Given the description of an element on the screen output the (x, y) to click on. 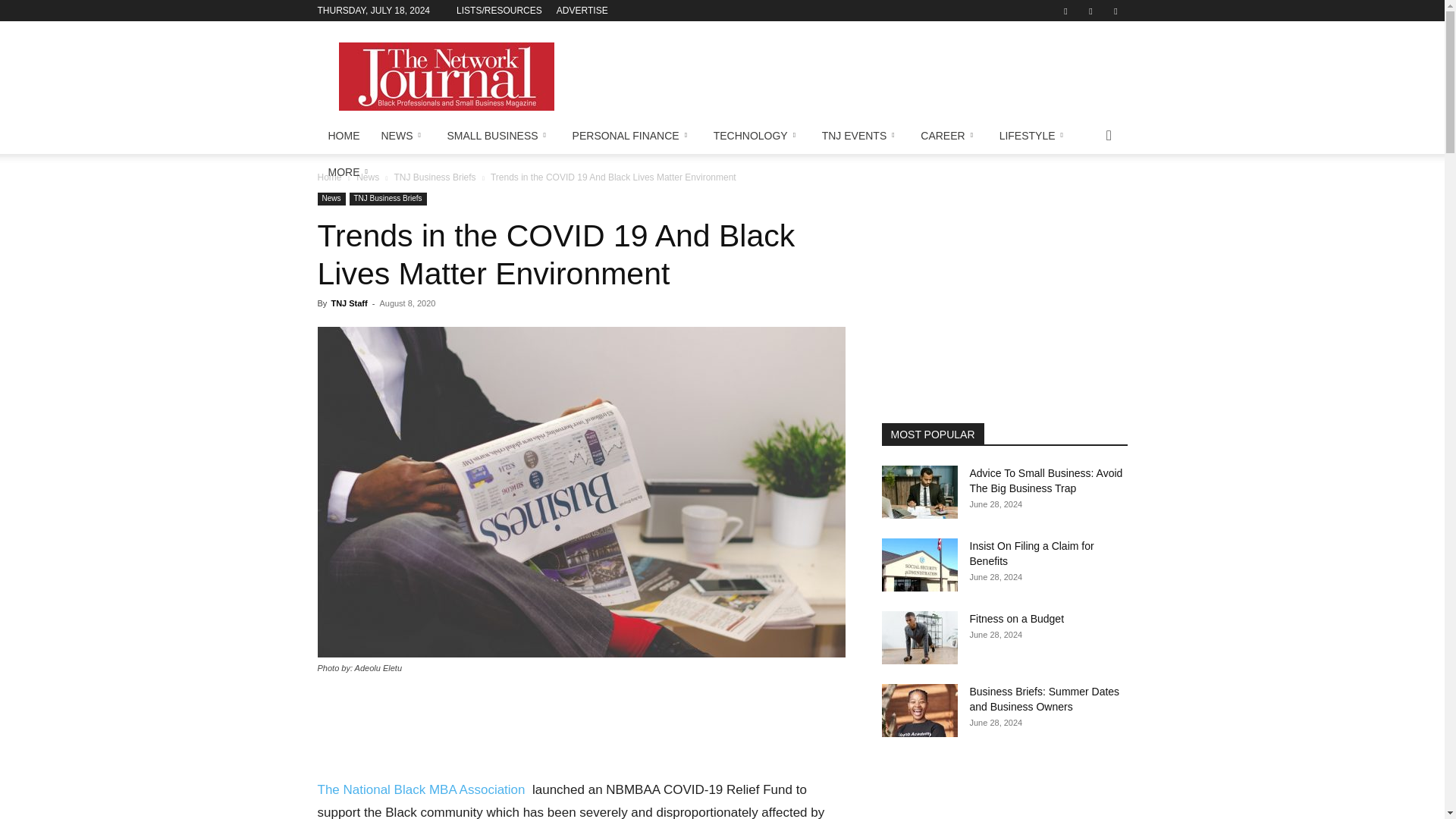
View all posts in News (367, 176)
Advertisement (850, 76)
Twitter (1090, 10)
View all posts in TNJ Business Briefs (435, 176)
Facebook (1065, 10)
Advertisement (580, 728)
Youtube (1114, 10)
